Given the description of an element on the screen output the (x, y) to click on. 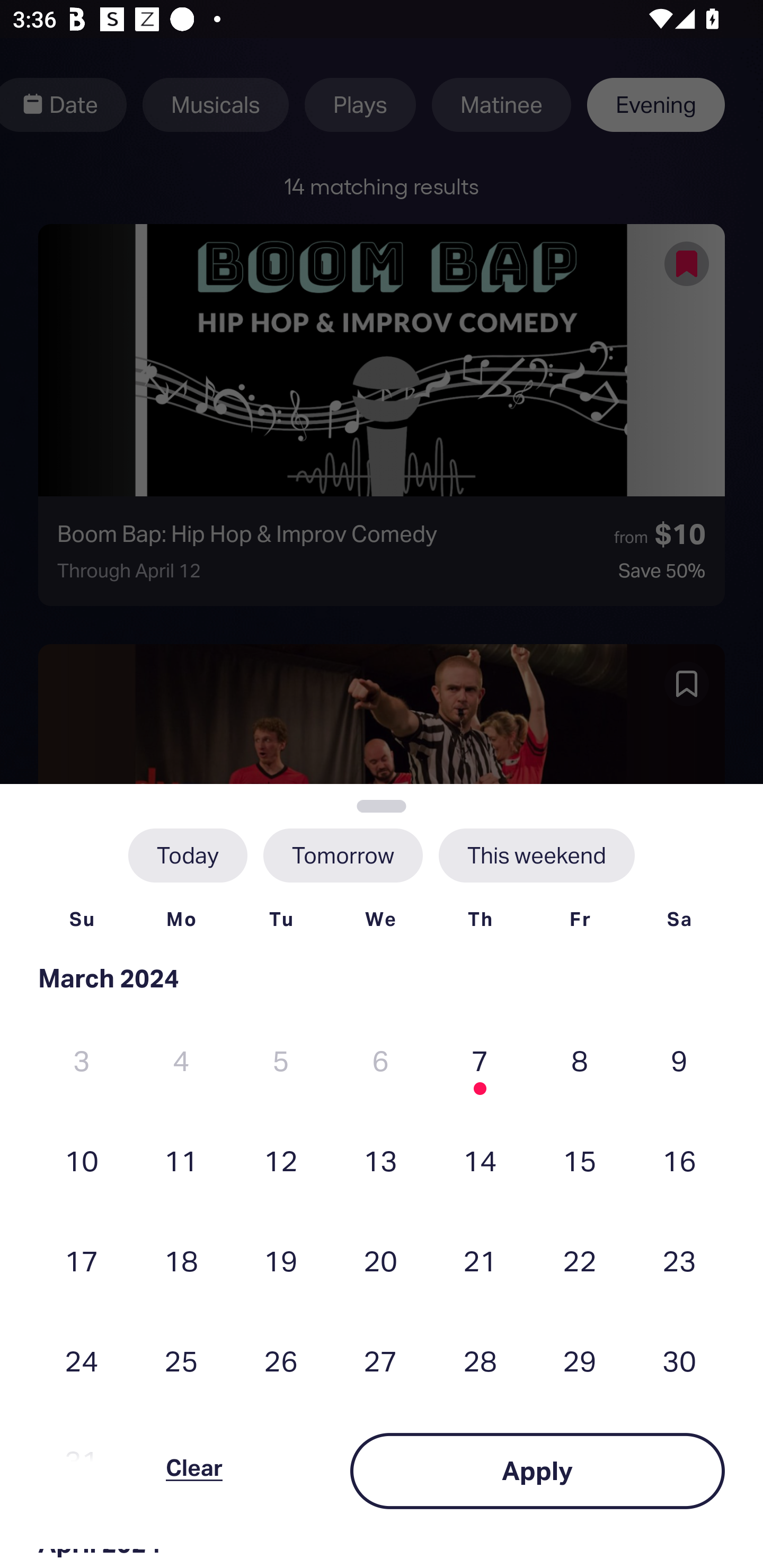
Today (187, 854)
Tomorrow (342, 854)
This weekend (536, 854)
3 (81, 1060)
4 (181, 1060)
5 (280, 1060)
6 (380, 1060)
7 (479, 1060)
8 (579, 1060)
9 (678, 1060)
10 (81, 1160)
11 (181, 1160)
12 (280, 1160)
13 (380, 1160)
14 (479, 1160)
15 (579, 1160)
16 (678, 1160)
17 (81, 1260)
18 (181, 1260)
19 (280, 1260)
20 (380, 1260)
21 (479, 1260)
22 (579, 1260)
23 (678, 1260)
24 (81, 1360)
25 (181, 1360)
26 (280, 1360)
27 (380, 1360)
28 (479, 1360)
29 (579, 1360)
30 (678, 1360)
Clear (194, 1470)
Apply (537, 1470)
